Given the description of an element on the screen output the (x, y) to click on. 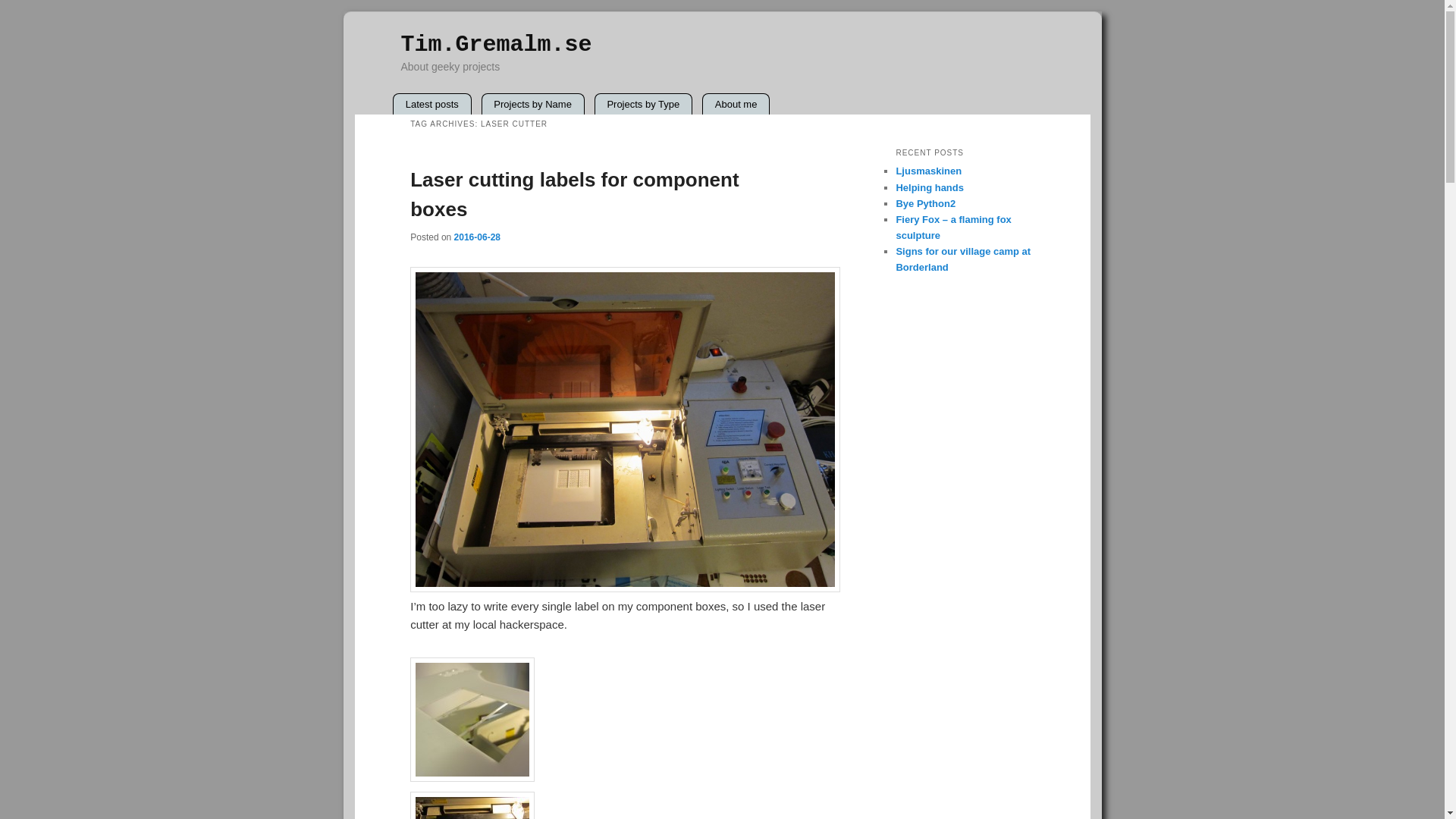
Tim.Gremalm.se (495, 44)
Laser cutting labels for component boxes (574, 194)
Projects by Name (532, 104)
Latest posts (431, 104)
About me (735, 104)
Projects by Type (643, 104)
09:02 (477, 236)
Tim.Gremalm.se (495, 44)
2016-06-28 (477, 236)
